Given the description of an element on the screen output the (x, y) to click on. 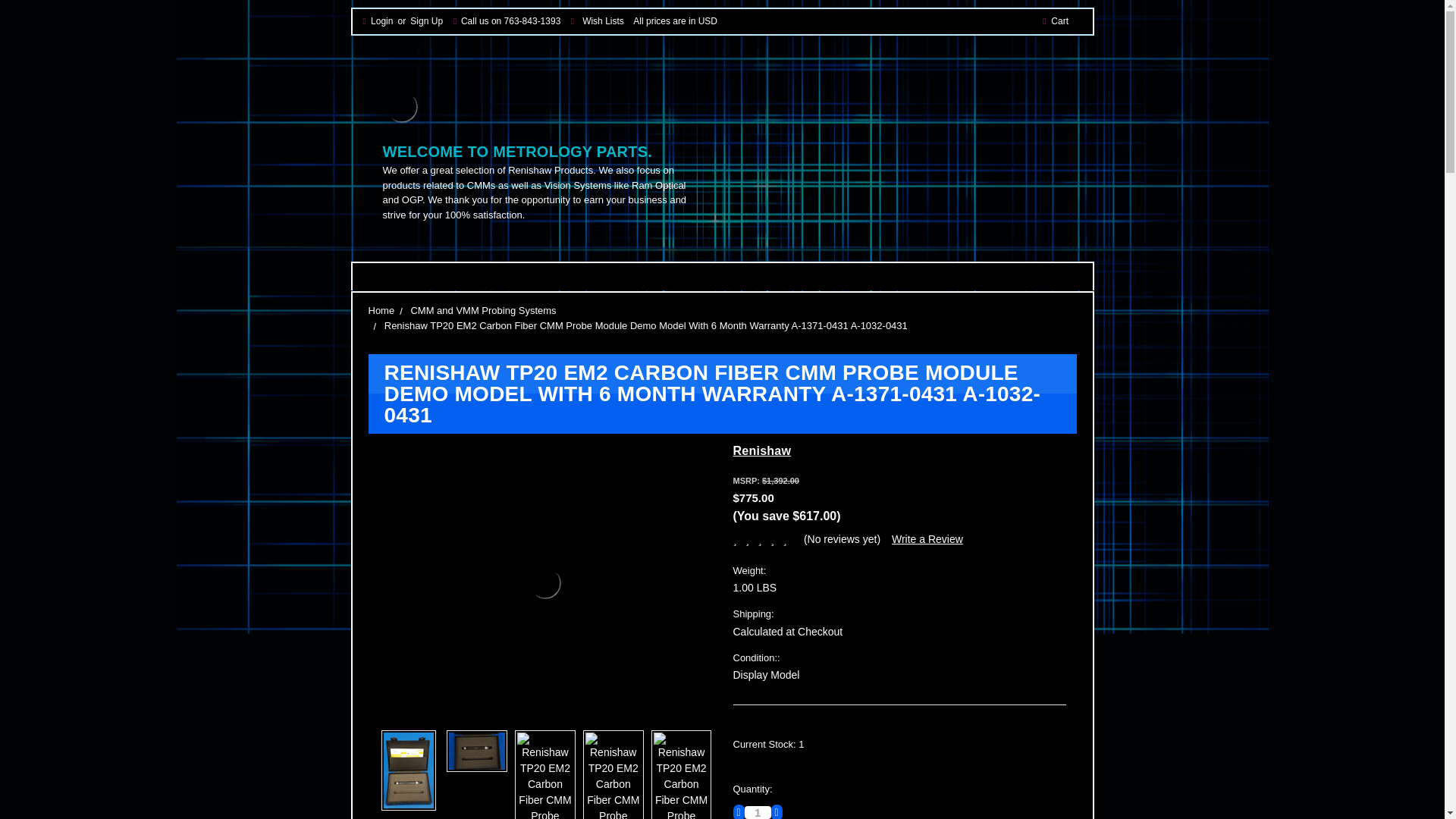
Metrology Parts (400, 106)
Cart (1059, 21)
Home (381, 310)
Wish Lists (603, 21)
Login (381, 21)
Sign Up (427, 21)
CMM and VMM Probing Systems (483, 310)
1 (757, 812)
